Given the description of an element on the screen output the (x, y) to click on. 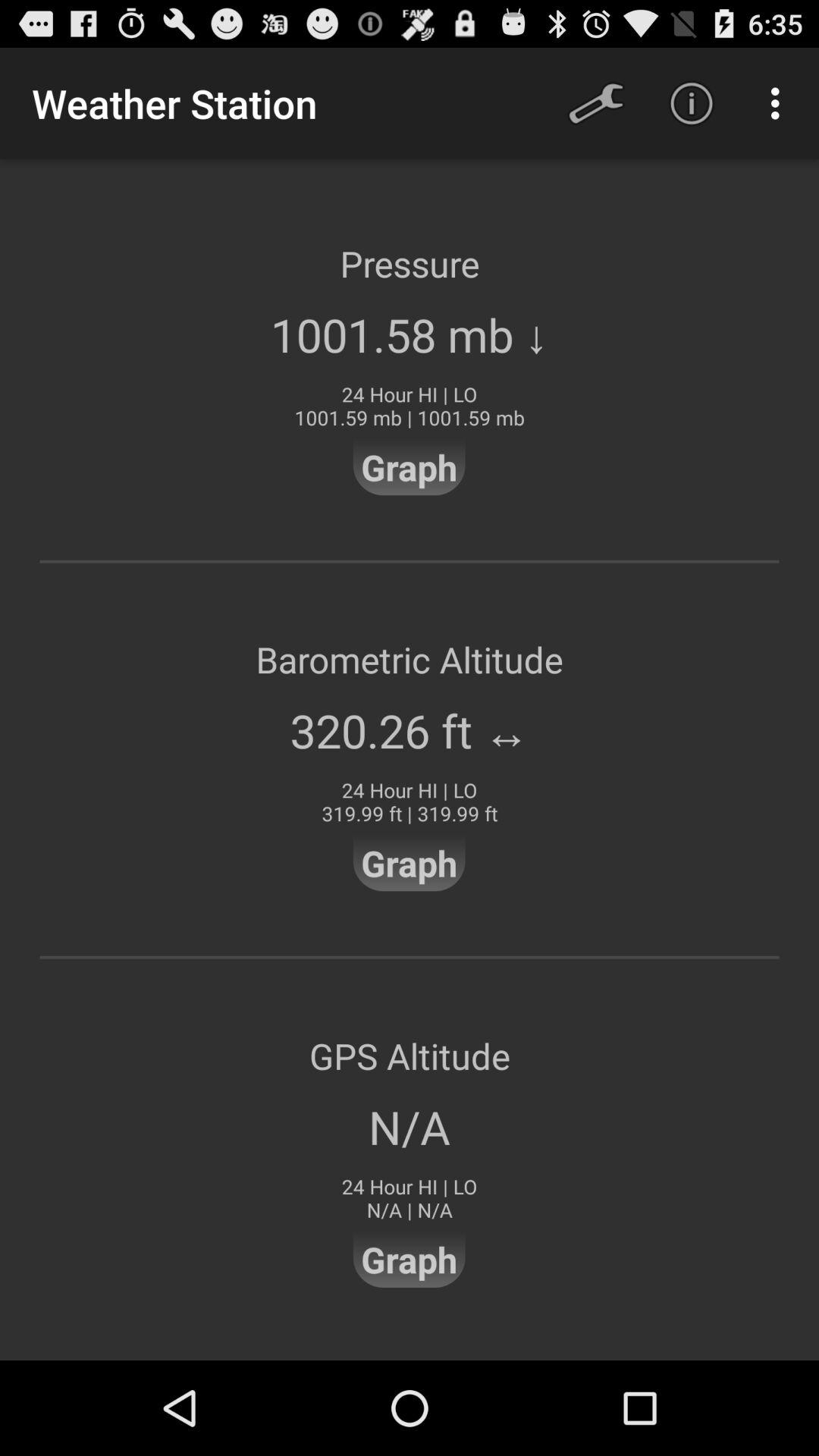
tap icon to the right of weather station icon (595, 103)
